Given the description of an element on the screen output the (x, y) to click on. 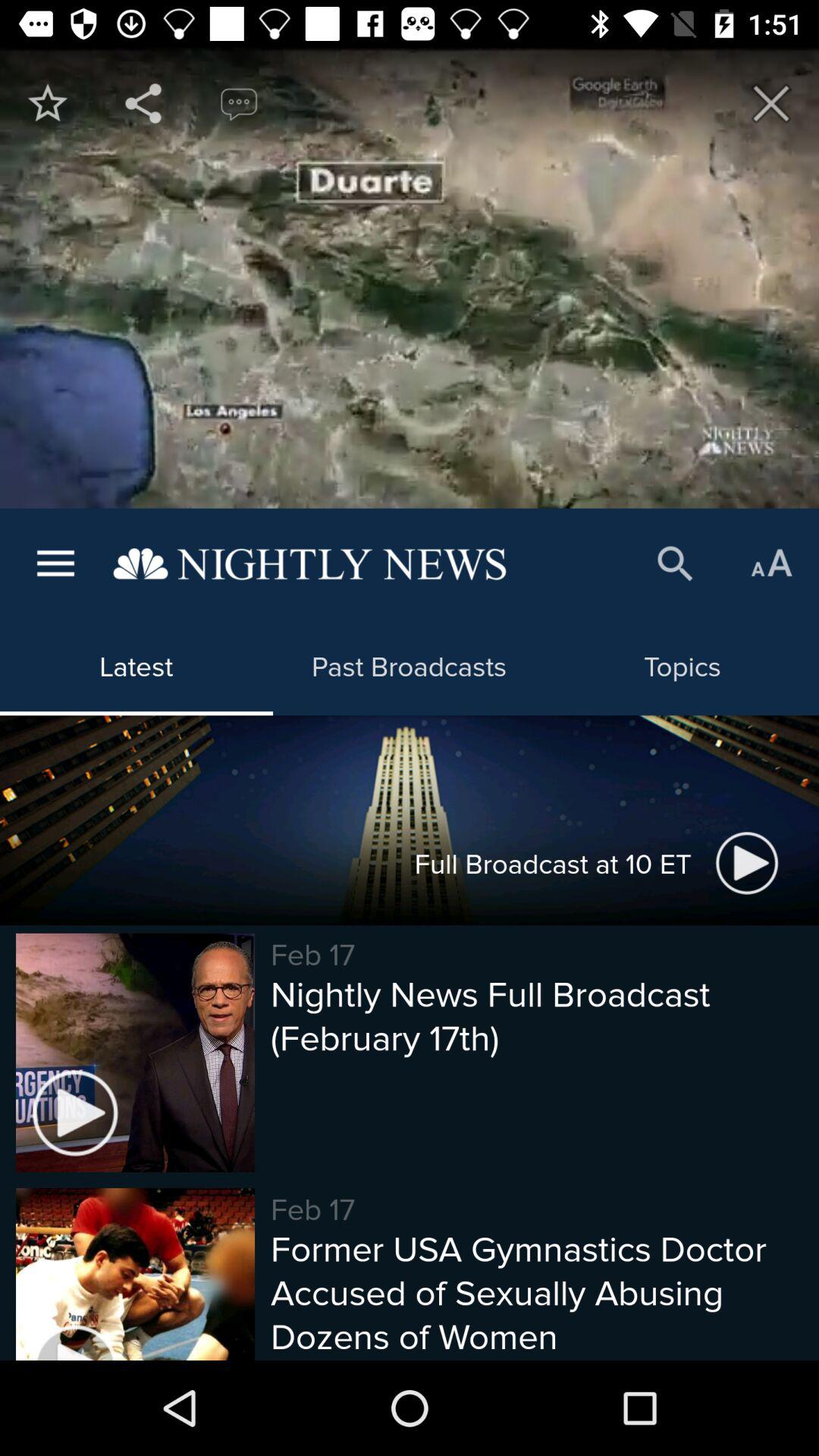
close (771, 103)
